Given the description of an element on the screen output the (x, y) to click on. 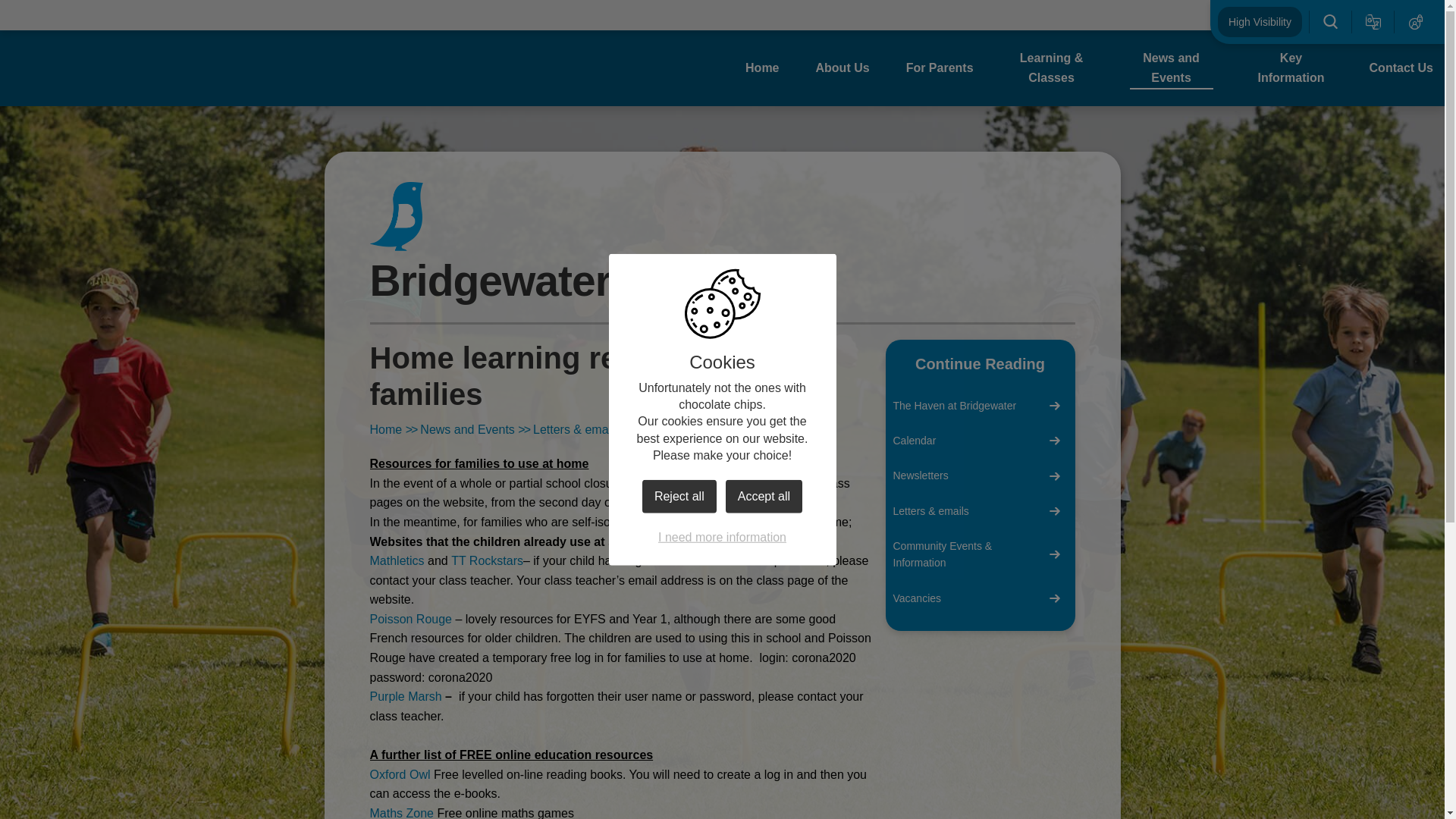
High Visibility (1259, 21)
About Us (842, 67)
Log in (1415, 21)
Home (761, 67)
Google Search (1330, 21)
Google Translate (1373, 21)
